Given the description of an element on the screen output the (x, y) to click on. 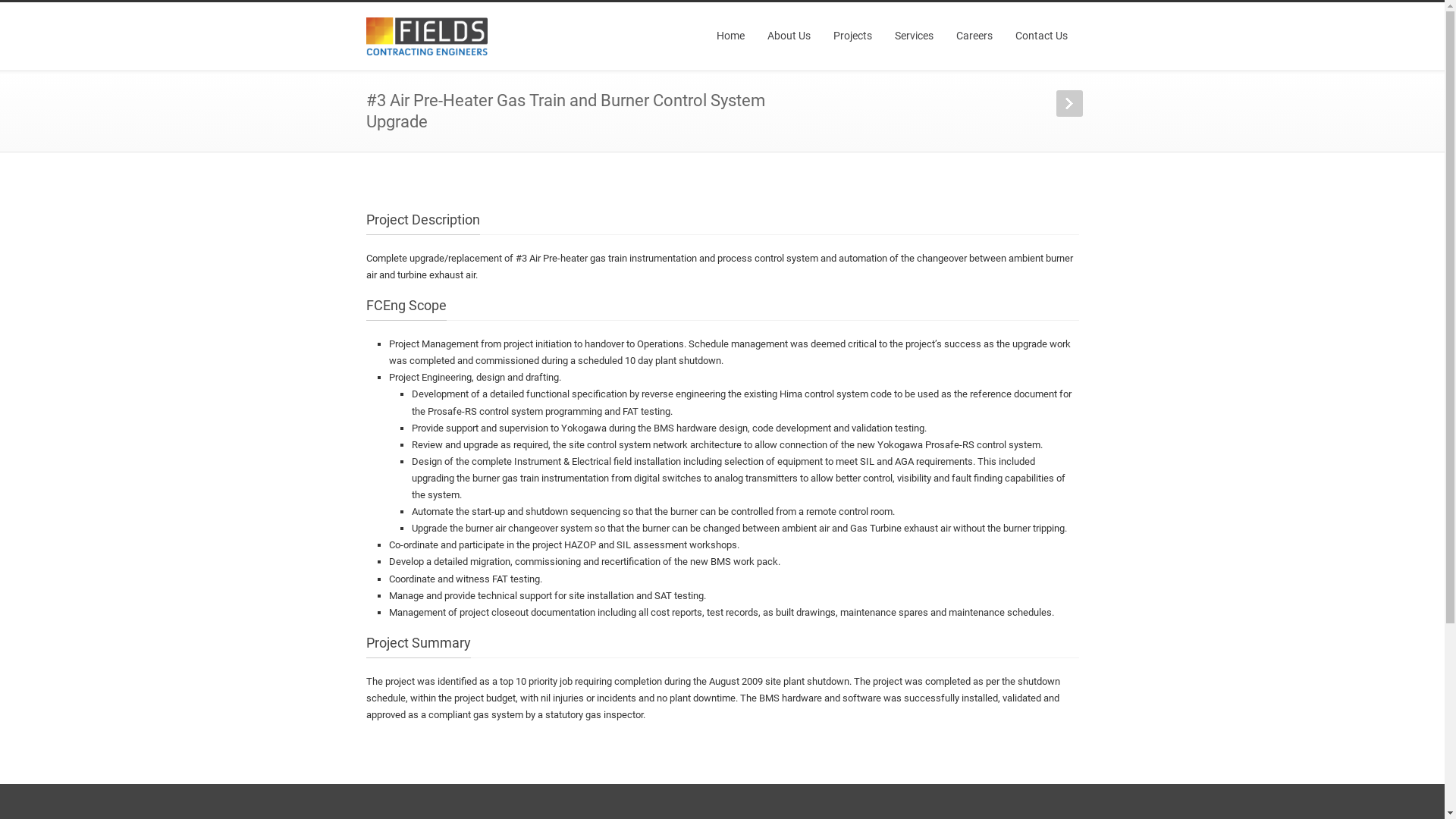
Services Element type: text (913, 35)
Careers Element type: text (974, 35)
Next Element type: text (1068, 103)
Home Element type: text (730, 35)
About Us Element type: text (788, 35)
Projects Element type: text (852, 35)
Contact Us Element type: text (1041, 35)
